Given the description of an element on the screen output the (x, y) to click on. 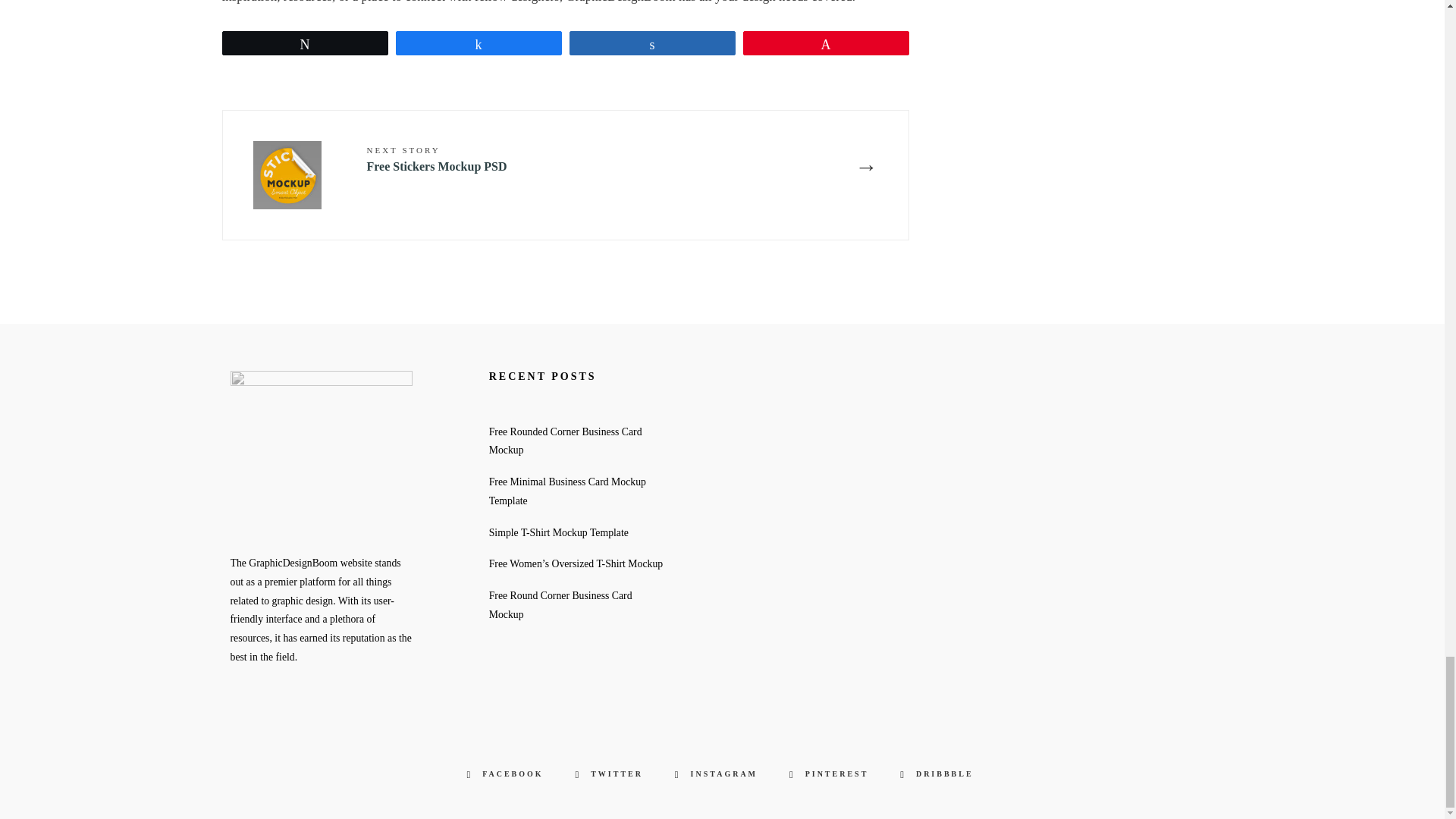
Twitter (611, 774)
Dribbble (939, 774)
Instagram (718, 774)
Facebook (506, 774)
Pinterest (831, 774)
